Given the description of an element on the screen output the (x, y) to click on. 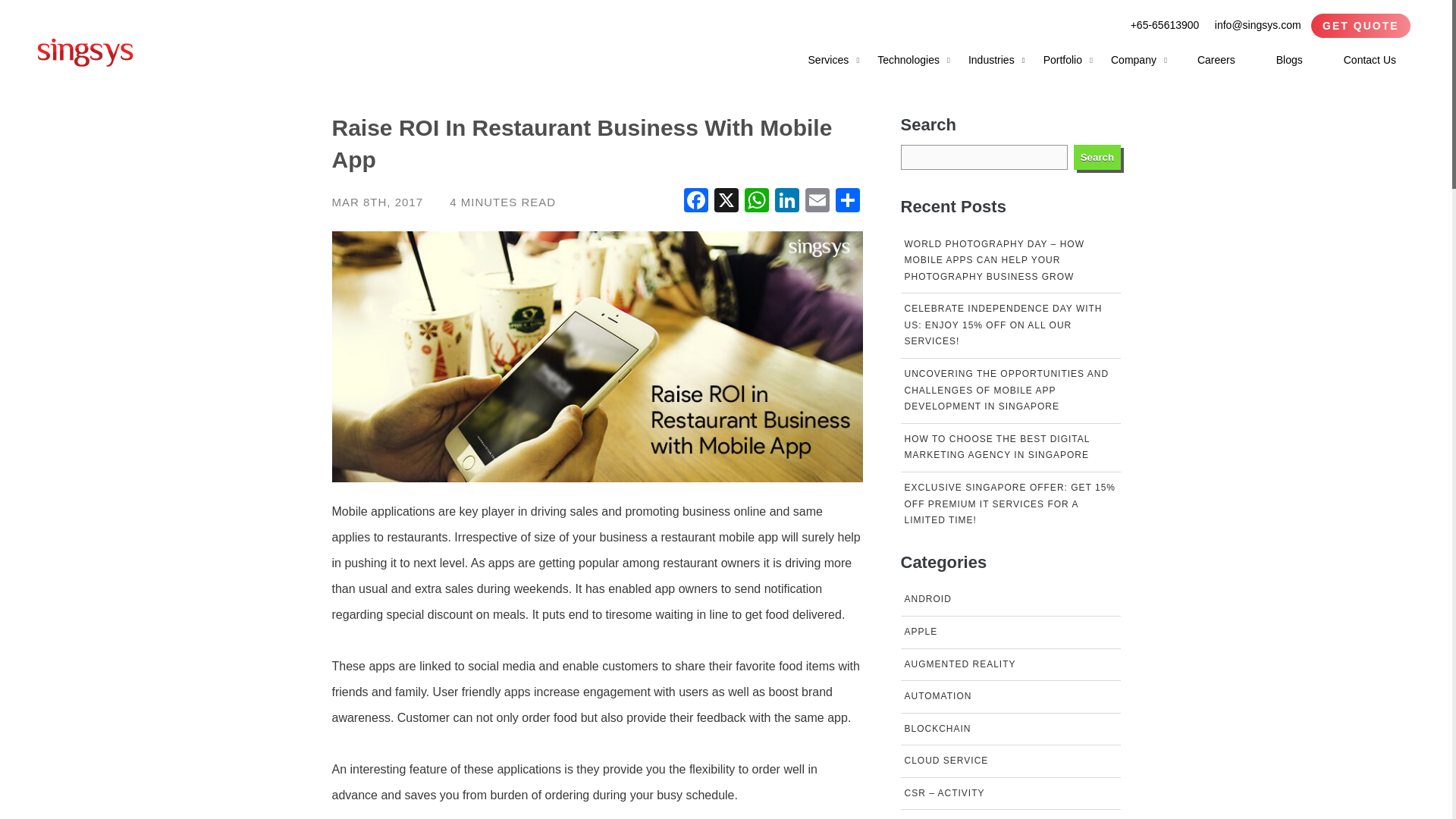
Email (817, 202)
Services (834, 59)
WhatsApp (756, 202)
LinkedIn (786, 202)
Facebook (696, 202)
X (726, 202)
GET QUOTE (1360, 25)
Technologies (908, 59)
